Given the description of an element on the screen output the (x, y) to click on. 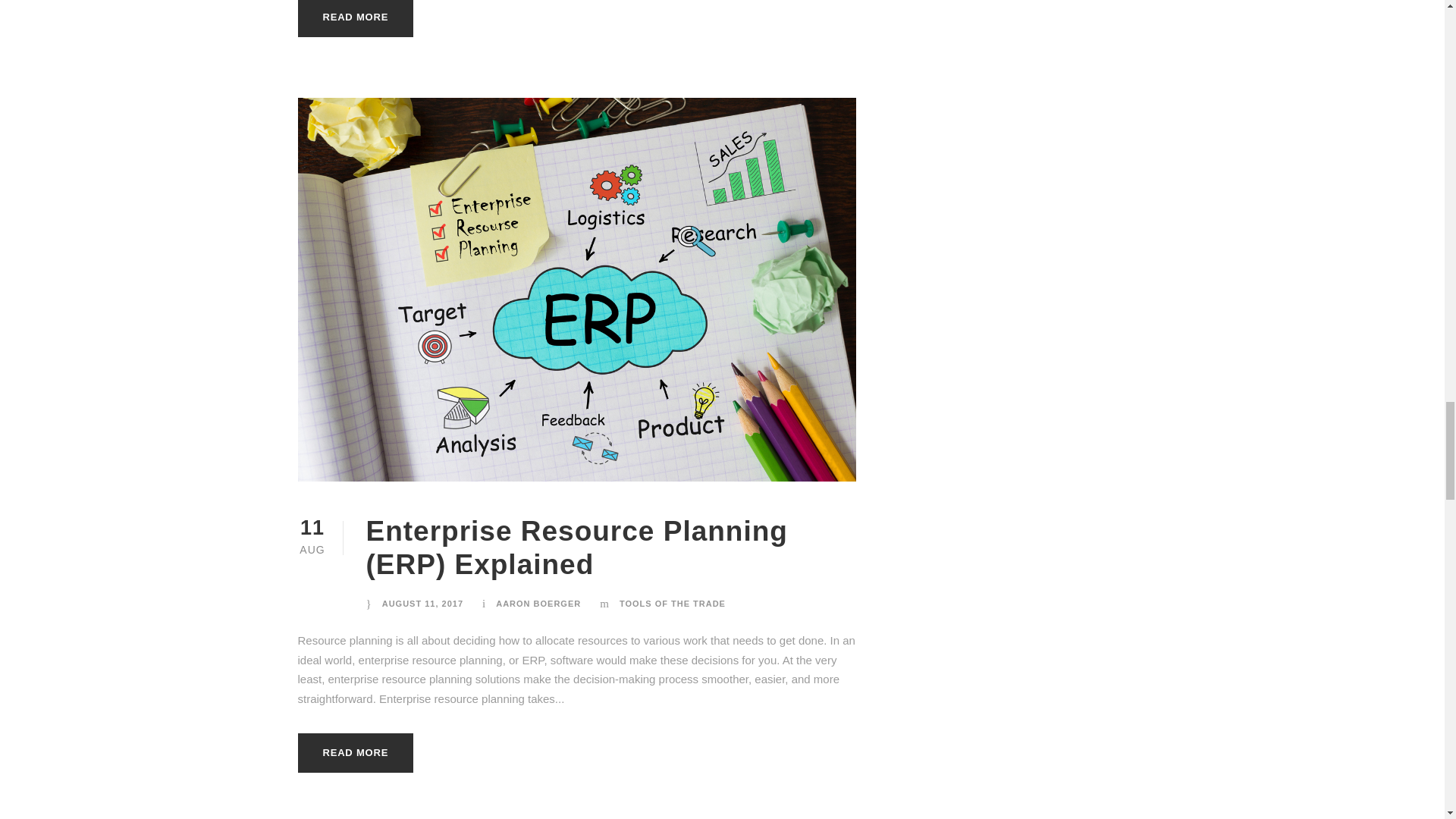
Posts by Aaron Boerger (538, 603)
